Given the description of an element on the screen output the (x, y) to click on. 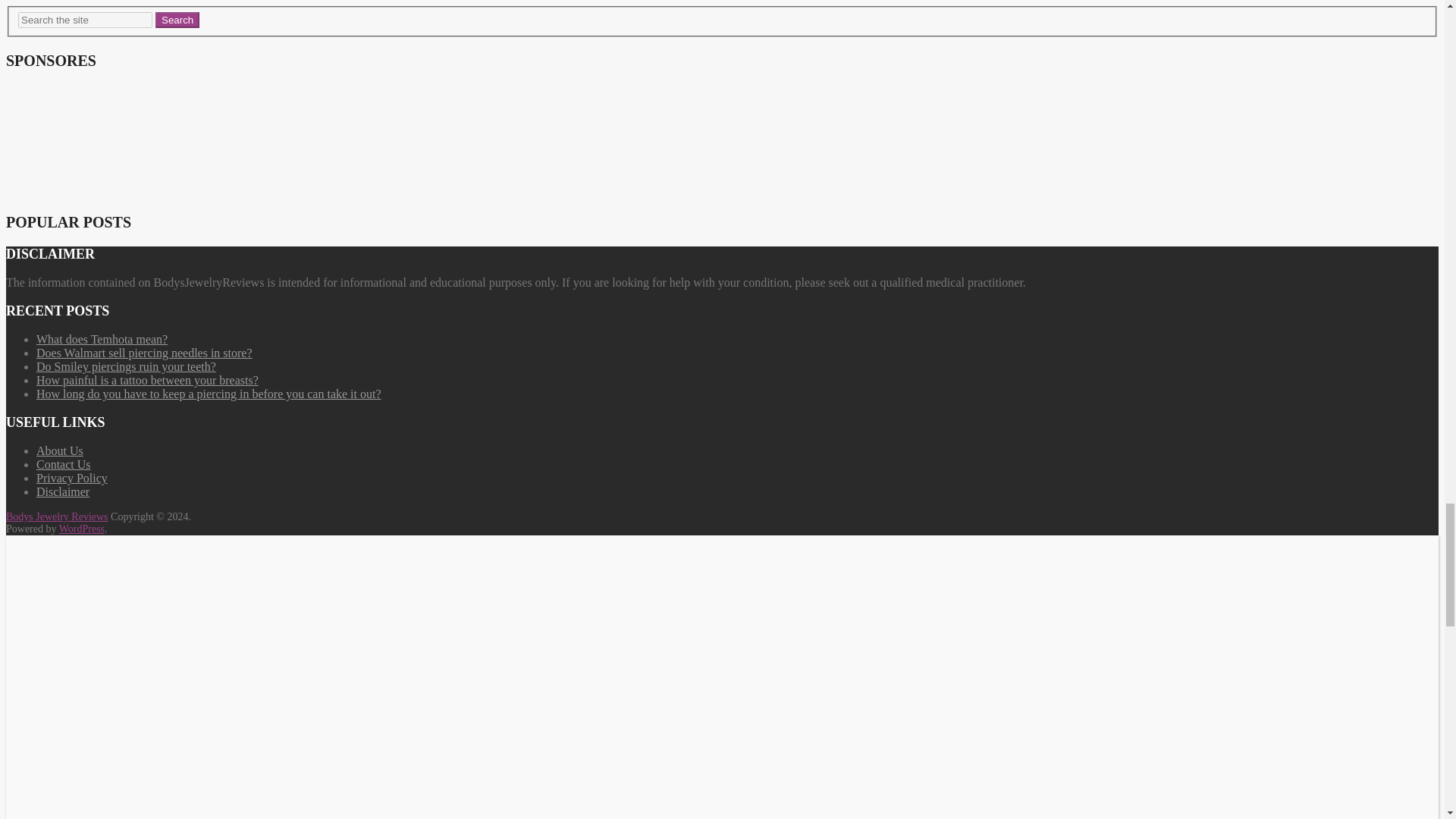
About Us (59, 450)
Does Walmart sell piercing needles in store? (143, 352)
What does Temhota mean? (101, 338)
Privacy Policy (71, 477)
Do Smiley piercings ruin your teeth? (125, 366)
How painful is a tattoo between your breasts? (147, 379)
Search (177, 19)
Contact Us (63, 463)
